Given the description of an element on the screen output the (x, y) to click on. 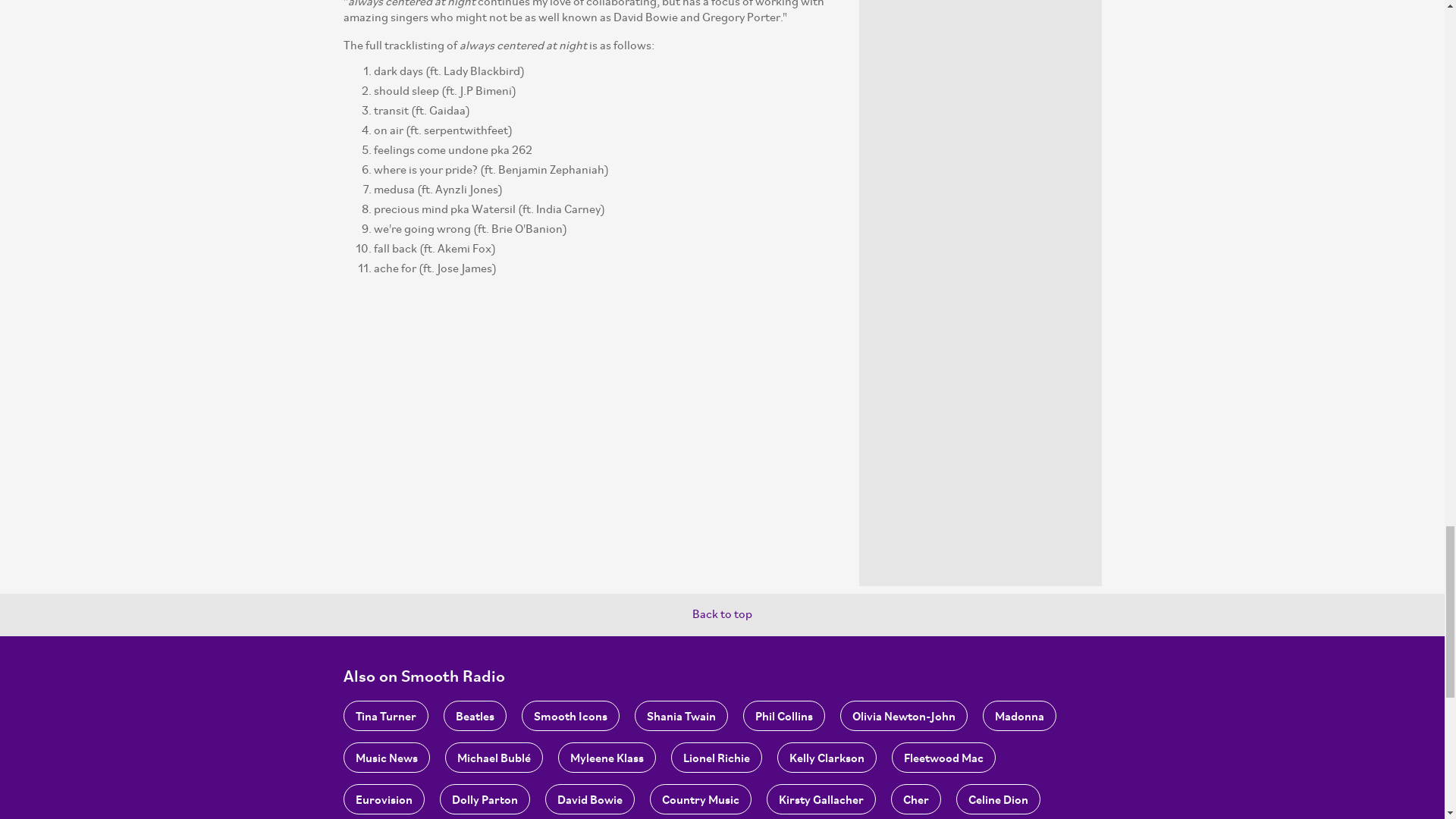
Back to top (722, 614)
